Given the description of an element on the screen output the (x, y) to click on. 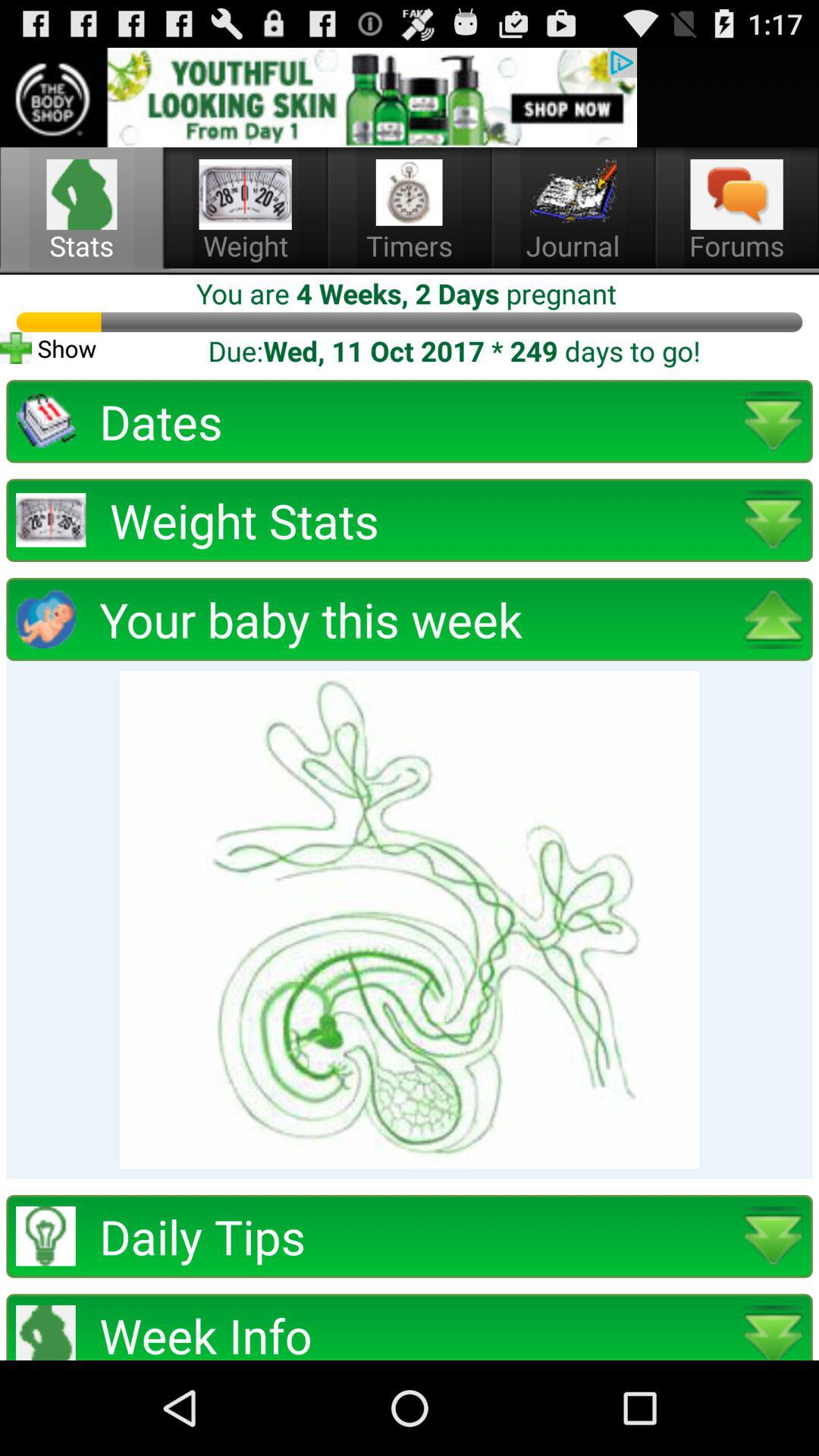
open advertisement (318, 97)
